Given the description of an element on the screen output the (x, y) to click on. 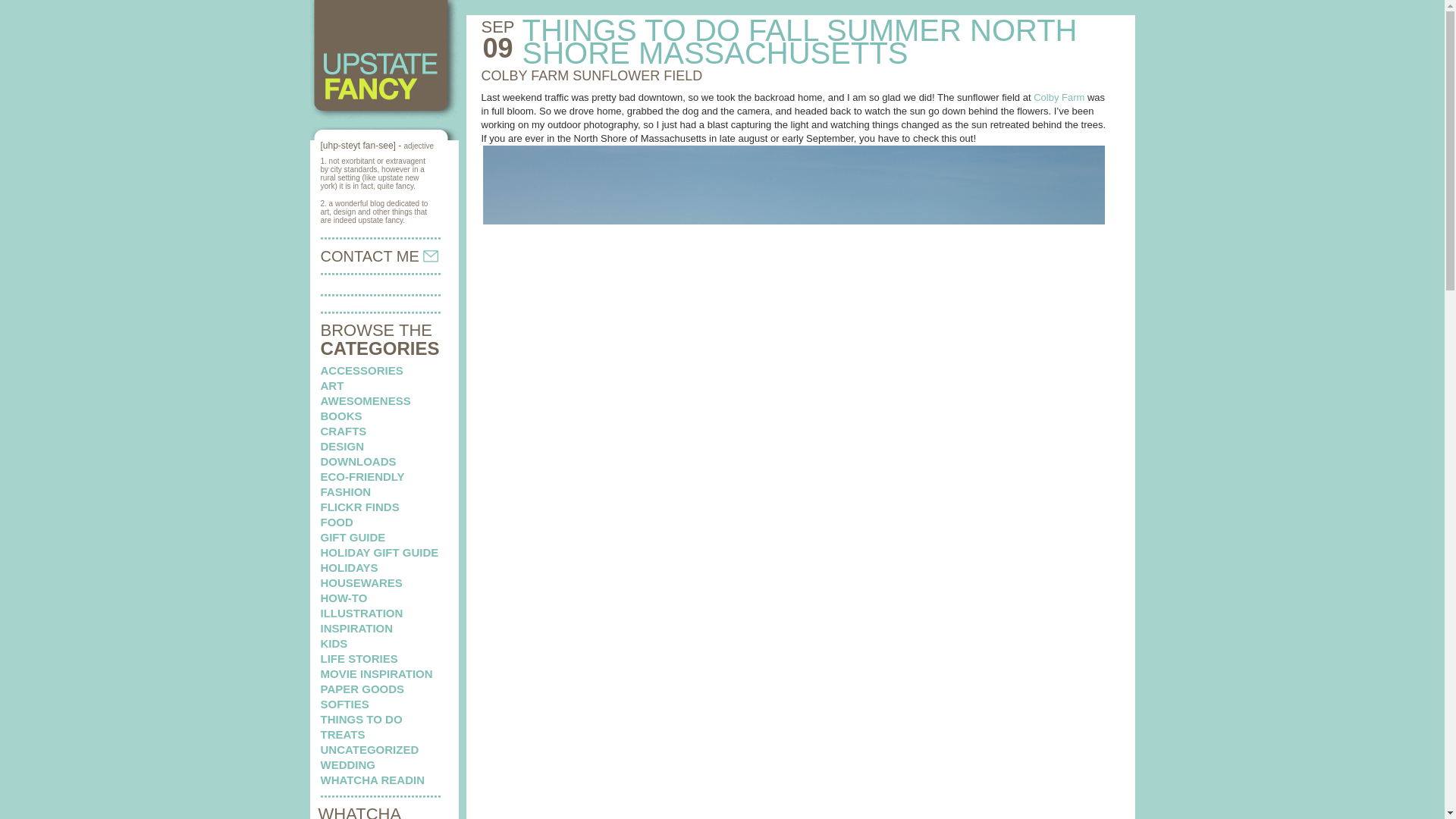
ART (331, 385)
BOOKS (340, 415)
WEDDING (347, 764)
PAPER GOODS (362, 688)
HOW-TO (343, 597)
UNCATEGORIZED (369, 748)
HOLIDAYS (348, 567)
LIFE STORIES (358, 658)
FLICKR FINDS (359, 506)
KIDS (333, 643)
